Given the description of an element on the screen output the (x, y) to click on. 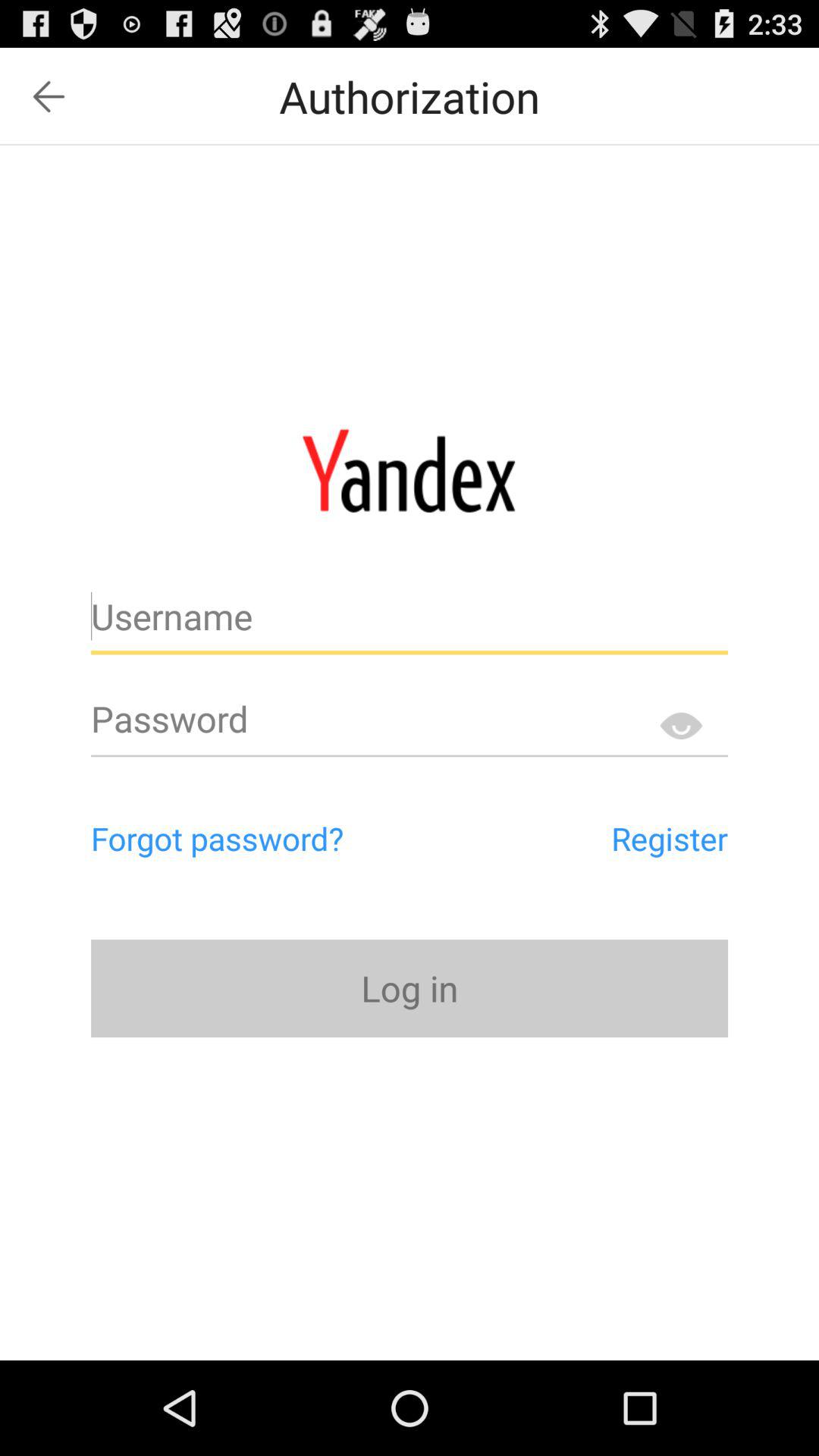
turn on log in at the bottom (409, 988)
